Given the description of an element on the screen output the (x, y) to click on. 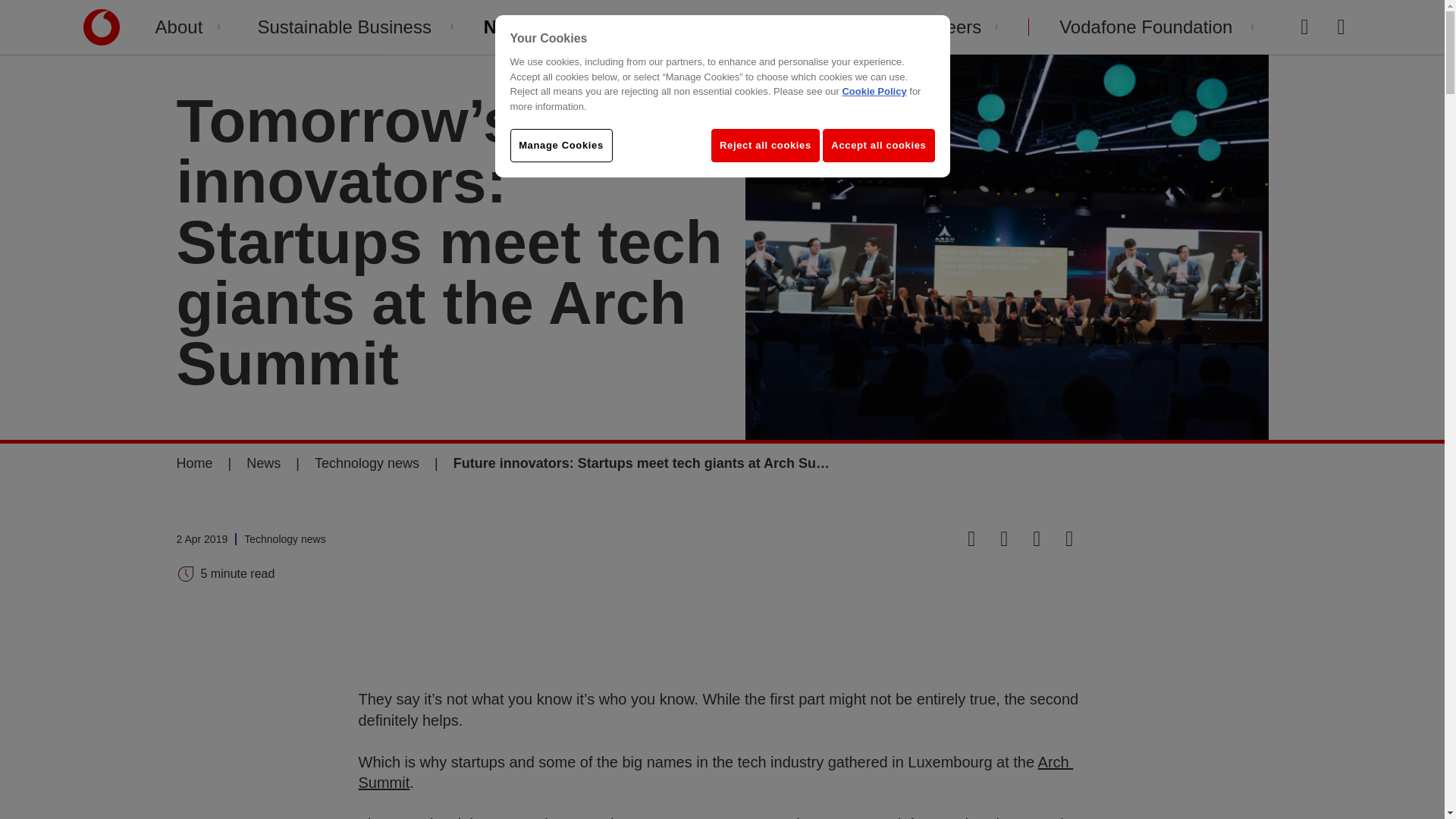
About (188, 27)
